Given the description of an element on the screen output the (x, y) to click on. 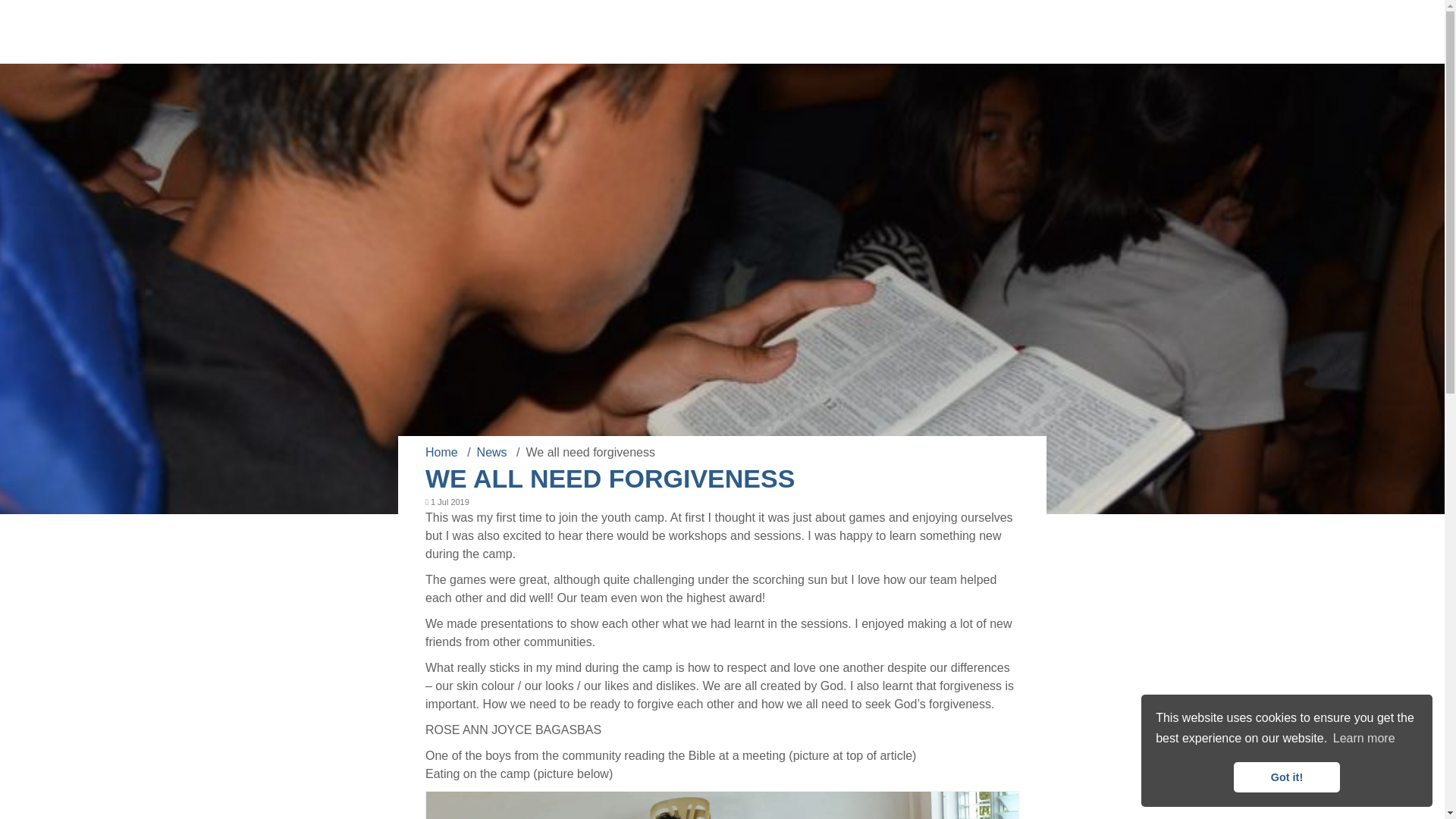
Learn more (1363, 738)
Contact Us (1126, 31)
News (838, 31)
Donate  (955, 31)
About  (780, 31)
Sponsorship  (1038, 31)
Home (443, 451)
News (494, 451)
Got it! (1286, 777)
Prayer (892, 31)
